Given the description of an element on the screen output the (x, y) to click on. 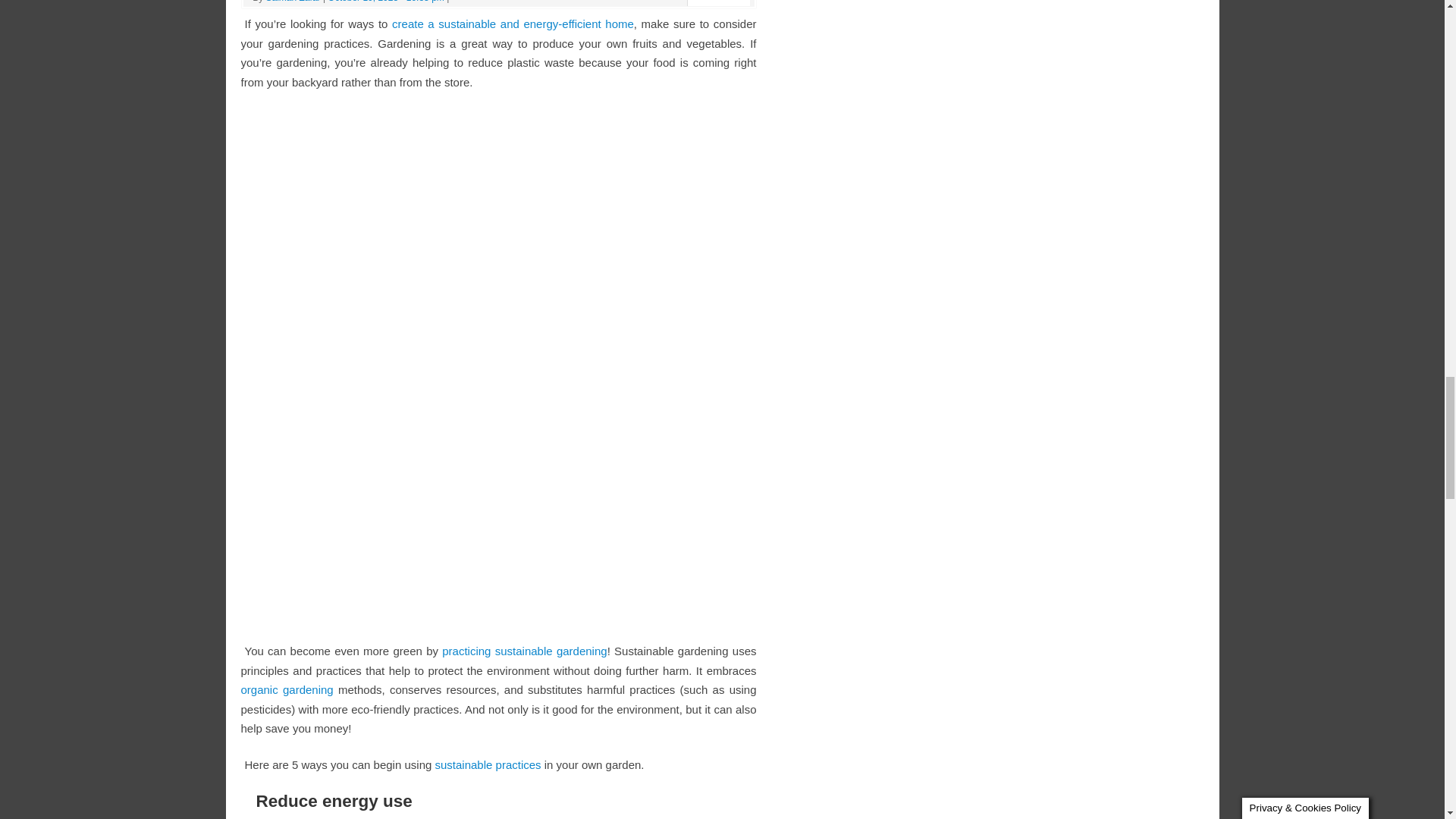
Salman Zafar (293, 1)
10:33 pm (385, 1)
View all posts by Salman Zafar (293, 1)
October 10, 2023 - 10:33 pm (385, 1)
